Given the description of an element on the screen output the (x, y) to click on. 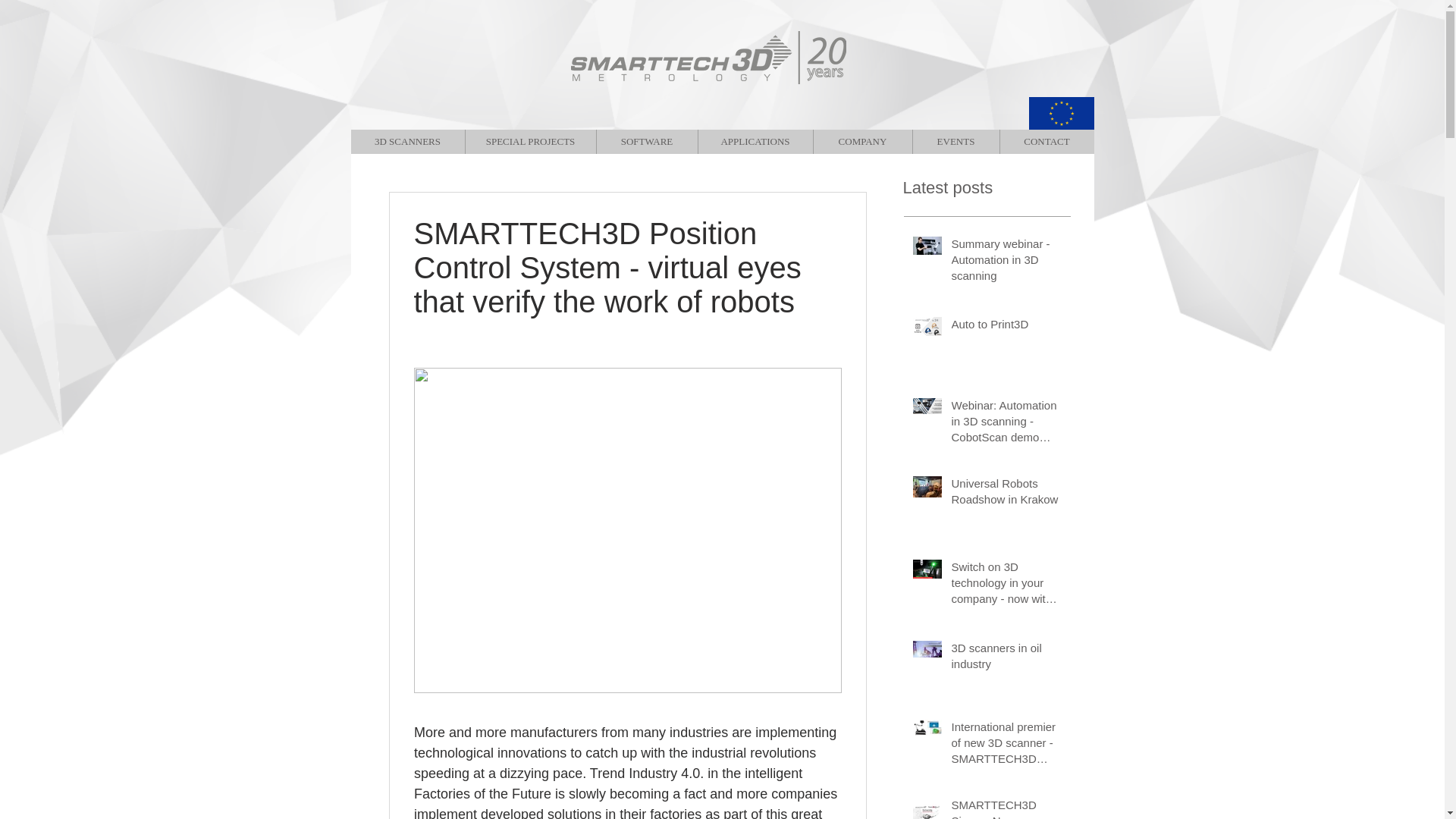
SPECIAL PROJECTS (529, 141)
3D SCANNERS (407, 141)
APPLICATIONS (754, 141)
SOFTWARE (646, 141)
COMPANY (862, 141)
